Given the description of an element on the screen output the (x, y) to click on. 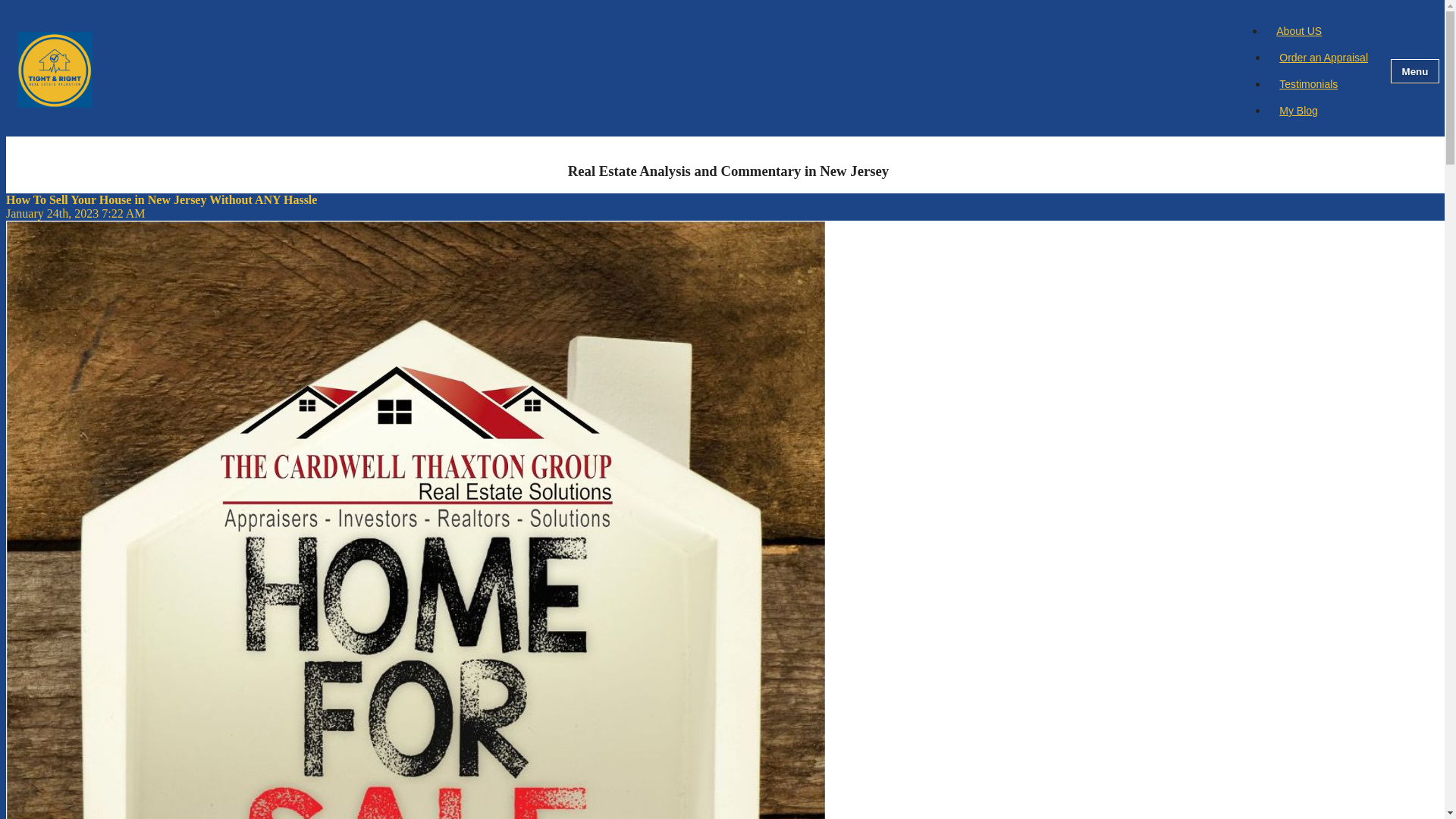
Order an Appraisal (1323, 57)
About US (1299, 31)
Testimonials (1308, 84)
Menu (1414, 70)
My Blog (1298, 110)
